Given the description of an element on the screen output the (x, y) to click on. 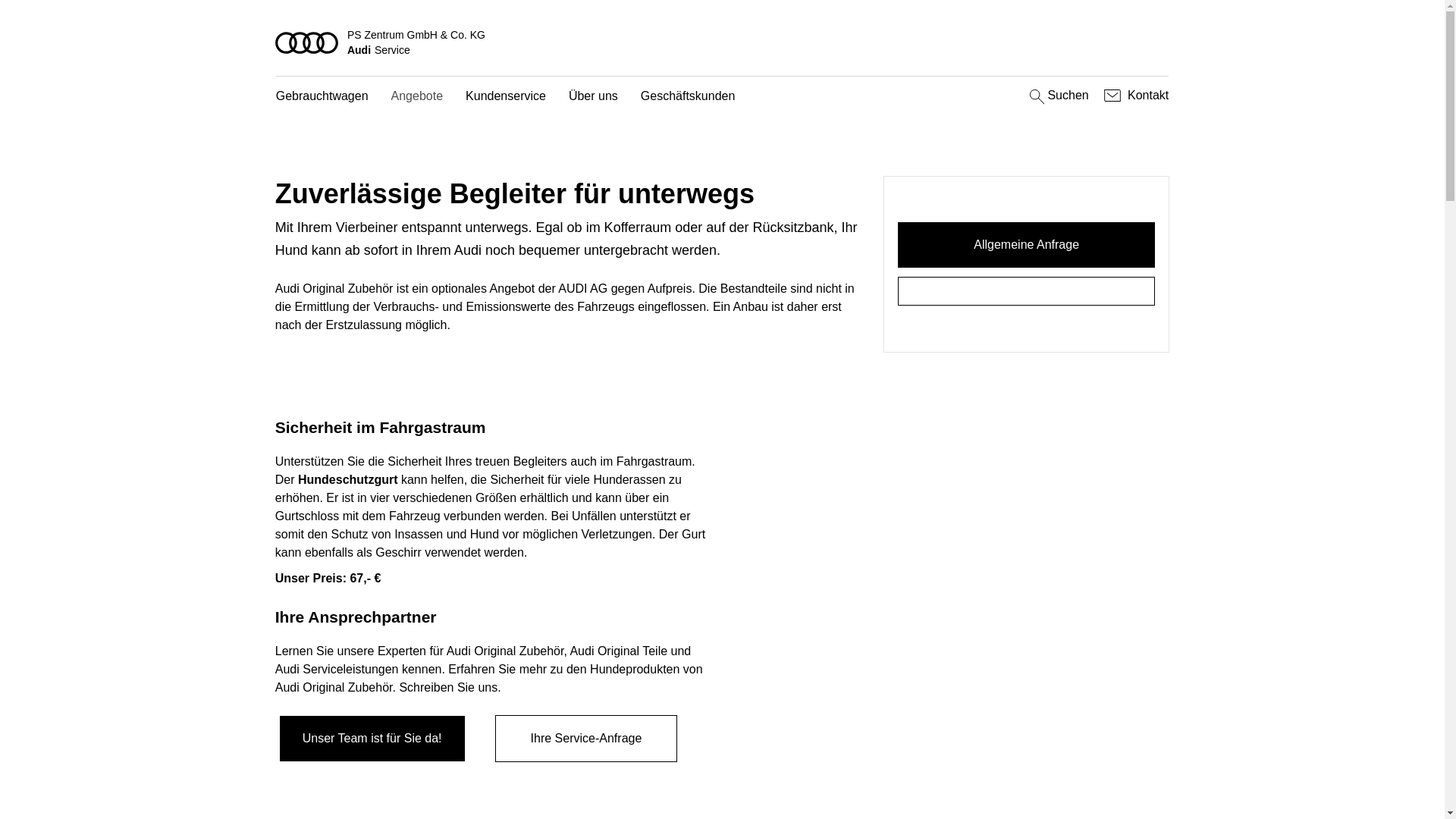
Kontakt Element type: text (1134, 95)
Ihre Service-Anfrage Element type: text (586, 738)
Angebote Element type: text (417, 96)
Kundenservice Element type: text (505, 96)
PS Zentrum GmbH & Co. KG
AudiService Element type: text (722, 42)
Gebrauchtwagen Element type: text (322, 96)
Allgemeine Anfrage Element type: text (1025, 244)
Suchen Element type: text (1056, 95)
